Given the description of an element on the screen output the (x, y) to click on. 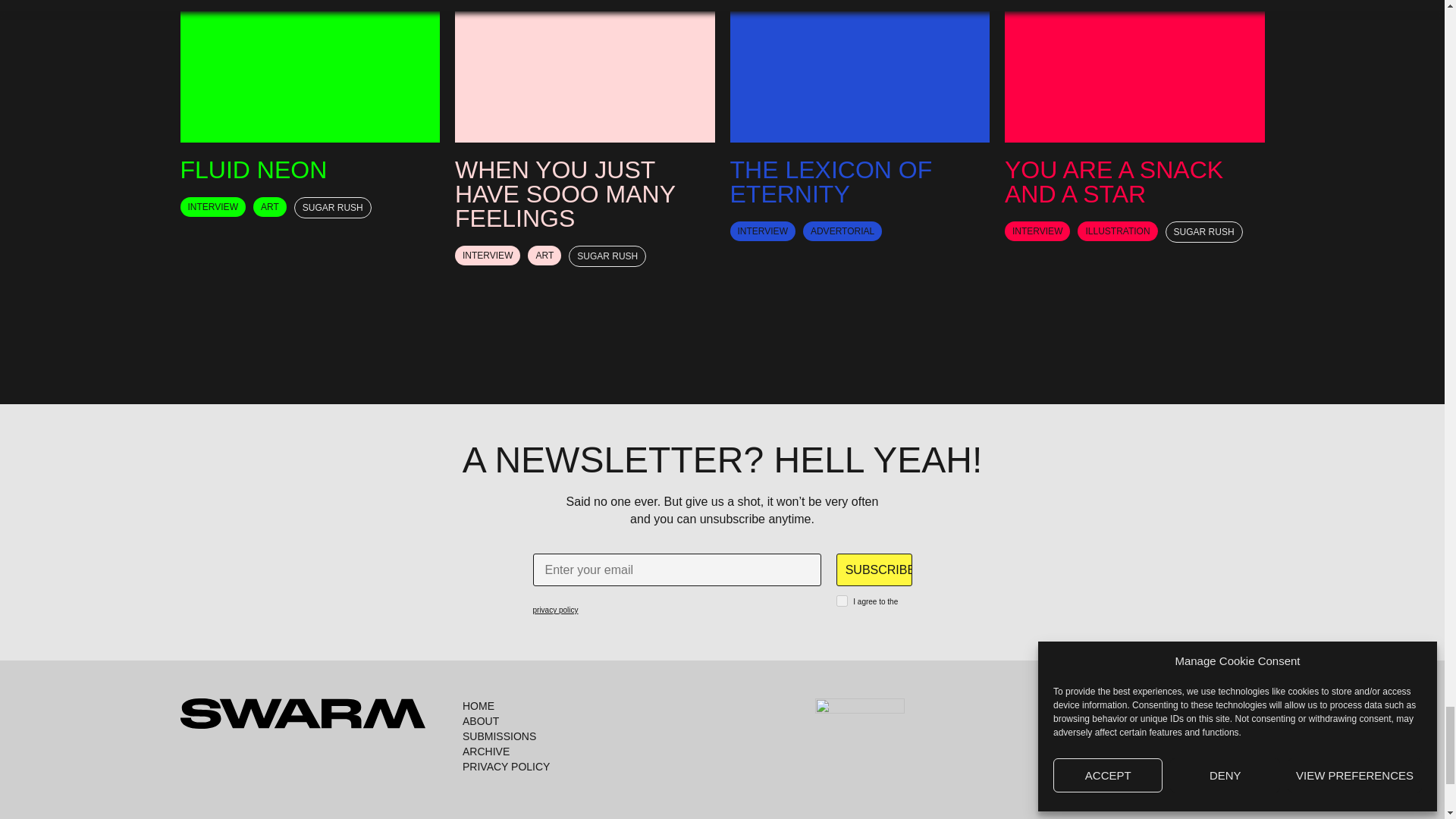
on (841, 600)
Subscribe (873, 569)
